Given the description of an element on the screen output the (x, y) to click on. 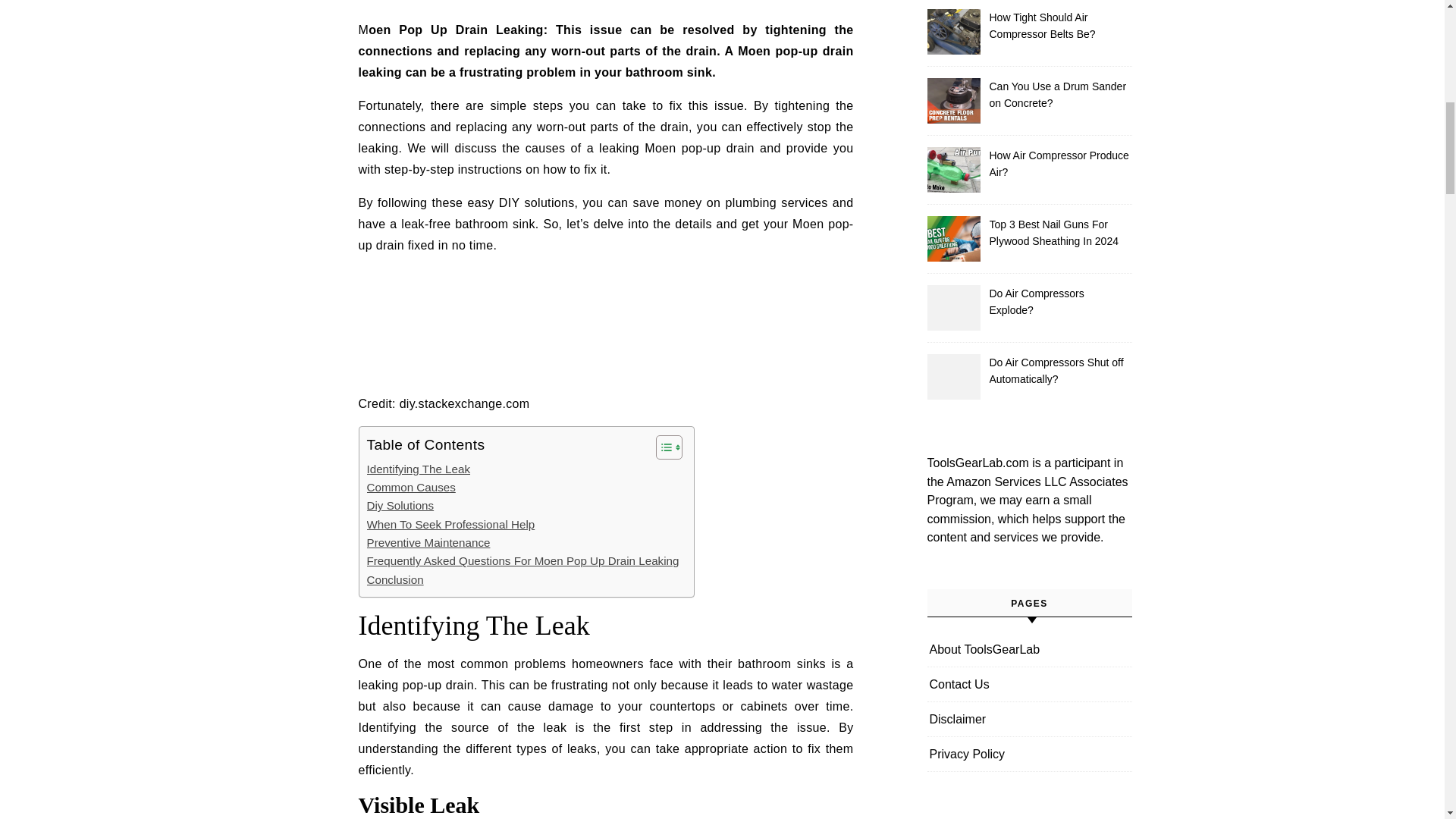
Diy Solutions (399, 505)
Conclusion (394, 579)
When To Seek Professional Help (450, 524)
Frequently Asked Questions For Moen Pop Up Drain Leaking (522, 561)
Identifying The Leak (418, 469)
Common Causes (410, 487)
Preventive Maintenance (428, 542)
Common Causes (410, 487)
Diy Solutions (399, 505)
Identifying The Leak (418, 469)
